Given the description of an element on the screen output the (x, y) to click on. 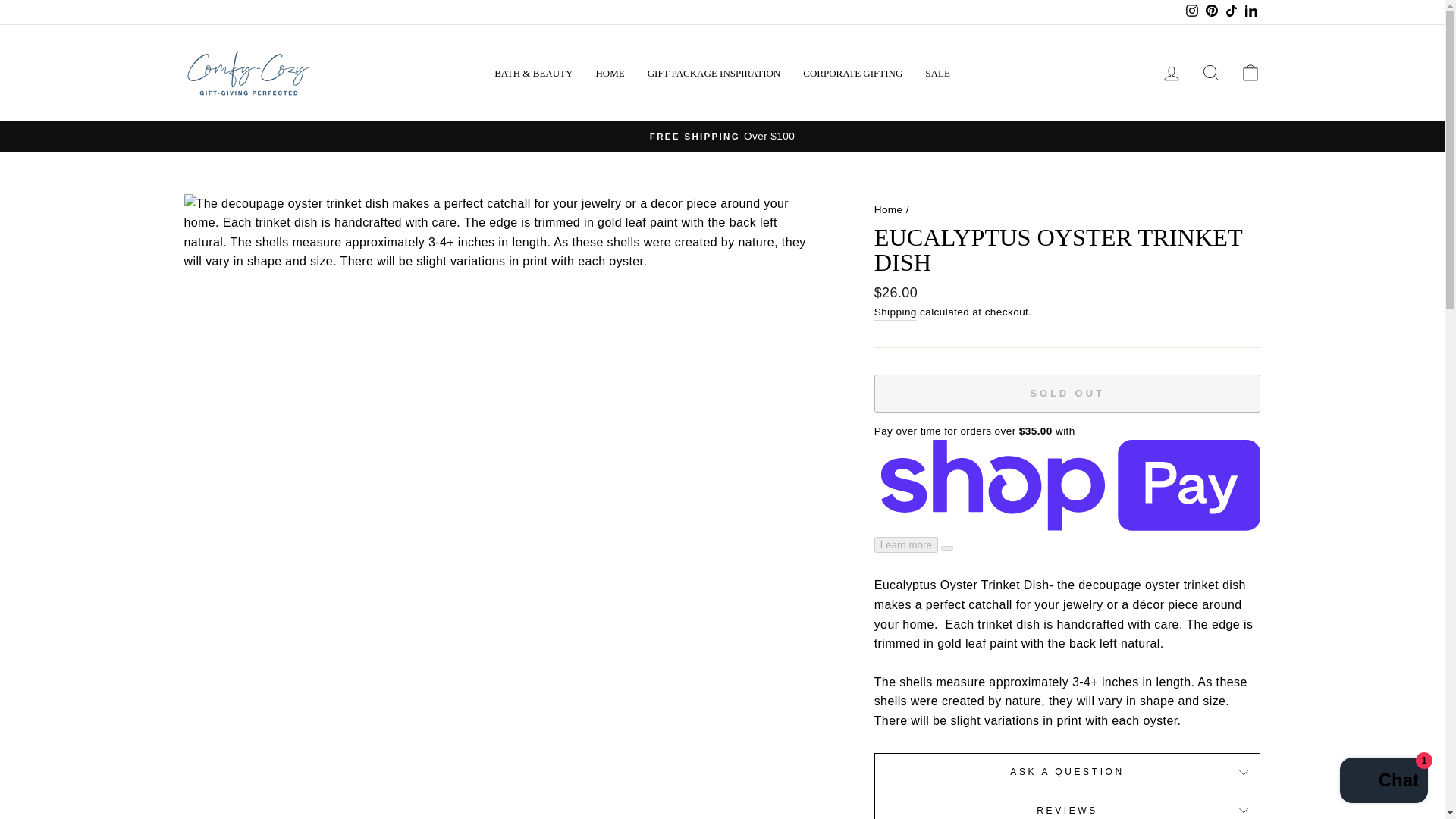
Back to the frontpage (888, 208)
Comfy-Cozy on LinkedIn (1250, 12)
Instagram (1190, 12)
LinkedIn (1250, 12)
Comfy-Cozy on Instagram (1190, 12)
Comfy-Cozy on TikTok (1230, 12)
TikTok (1230, 12)
Pinterest (1211, 12)
Comfy-Cozy on Pinterest (1211, 12)
